Given the description of an element on the screen output the (x, y) to click on. 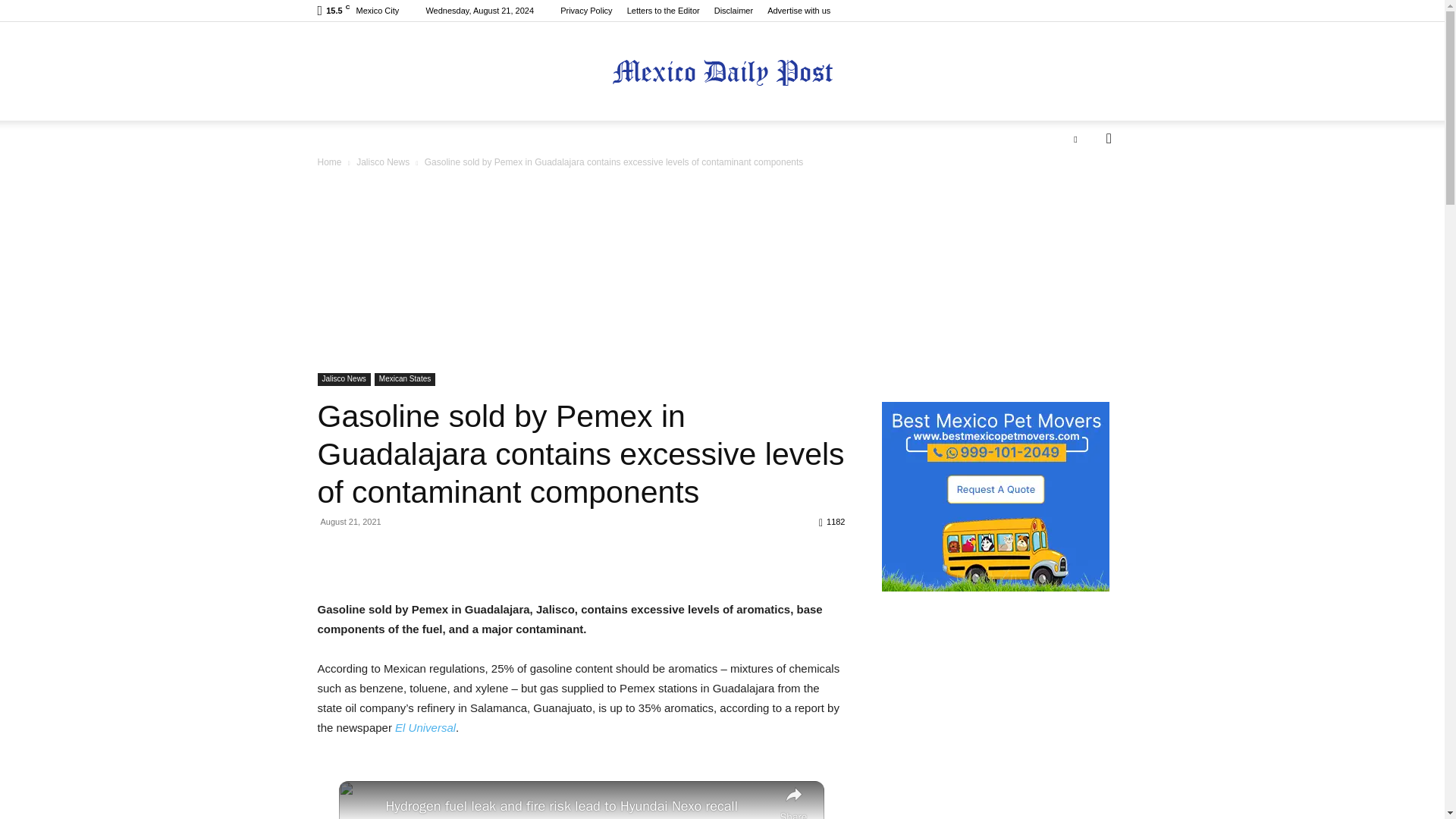
Letters to the Editor (663, 10)
Mexico Daily Post (721, 72)
Search (1085, 199)
Jalisco News (343, 379)
Disclaimer (733, 10)
Home (328, 162)
Mexican States (404, 379)
El Universal (424, 727)
View all posts in Jalisco News (382, 162)
Advertise with us (798, 10)
